Given the description of an element on the screen output the (x, y) to click on. 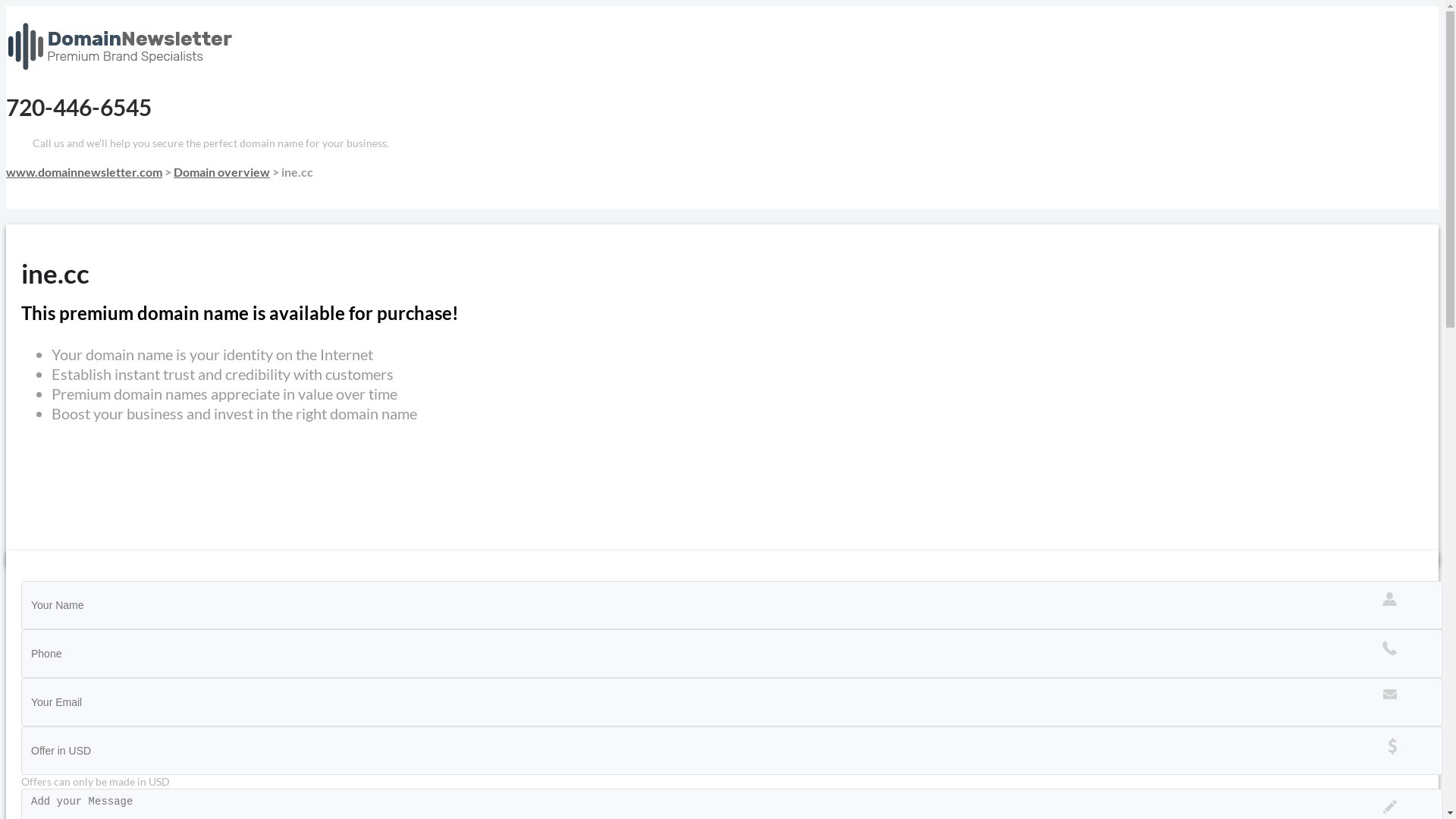
www.domainnewsletter.com Element type: text (84, 171)
Domain overview Element type: text (221, 171)
